Given the description of an element on the screen output the (x, y) to click on. 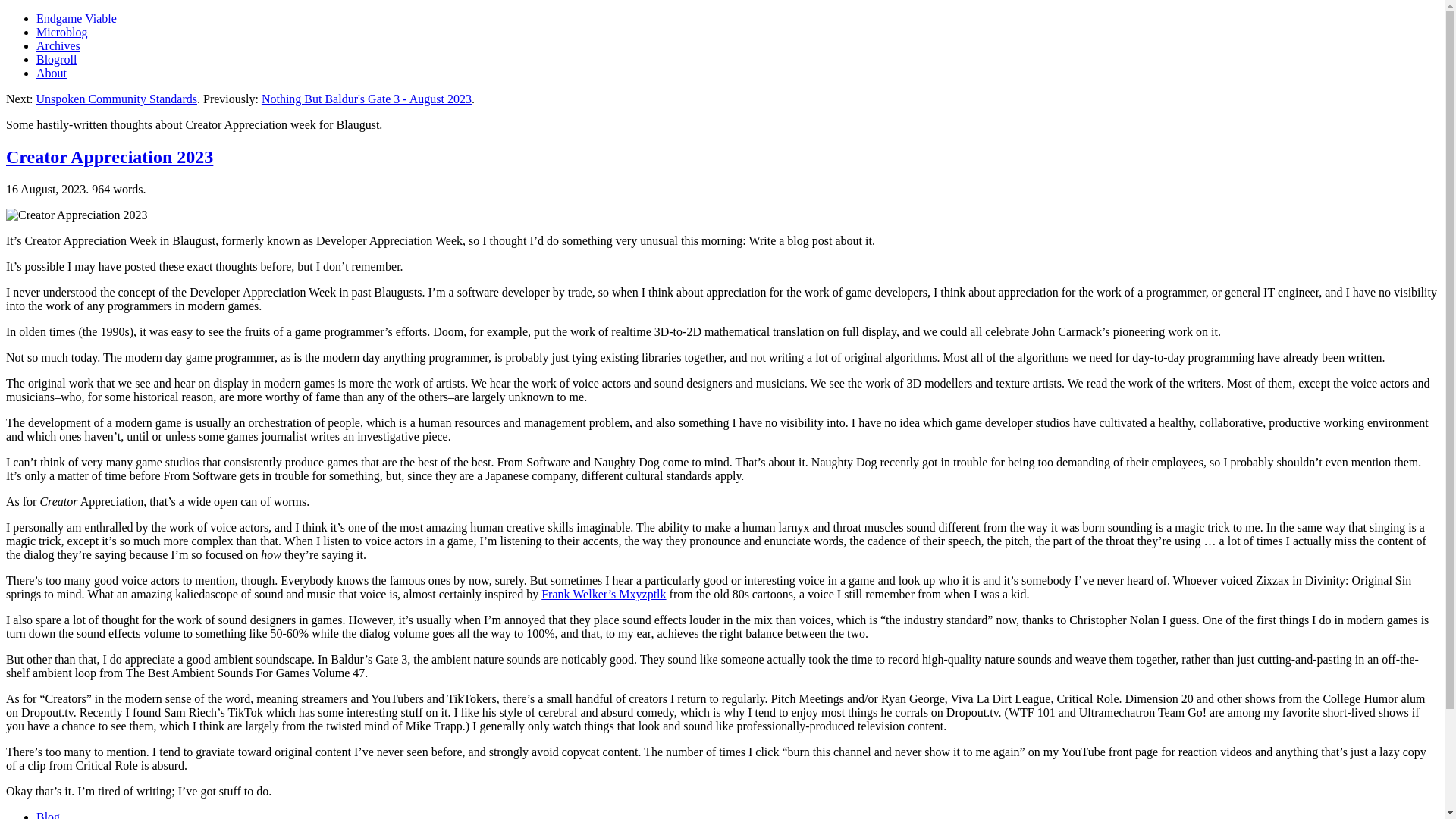
Creator Appreciation 2023 (108, 157)
Microblog (61, 31)
About (51, 72)
Endgame Viable (76, 18)
Blogroll (56, 59)
Archives (58, 45)
Unspoken Community Standards (116, 98)
Nothing But Baldur's Gate 3 - August 2023 (366, 98)
Blog (47, 814)
